Given the description of an element on the screen output the (x, y) to click on. 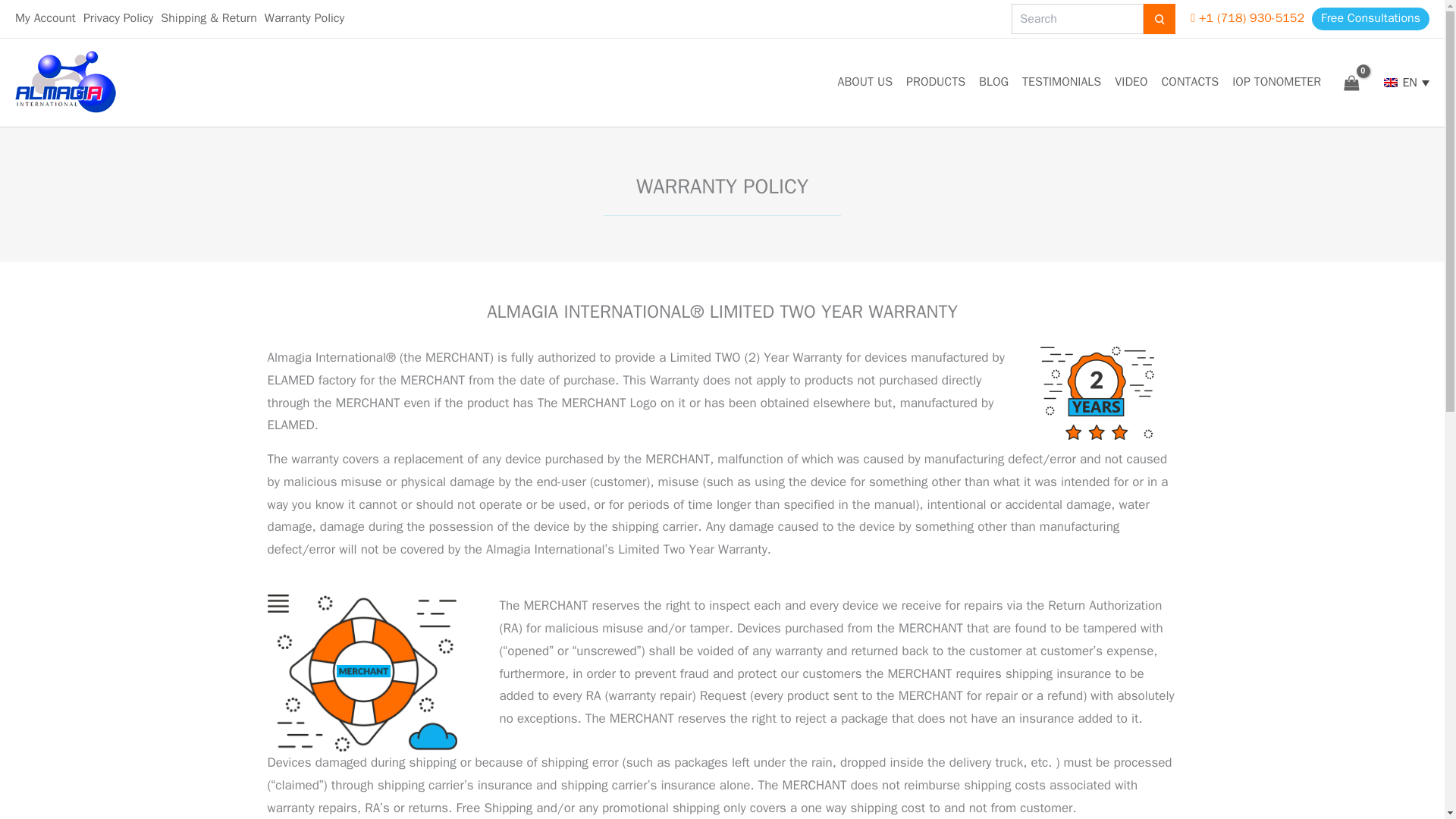
My Account (44, 17)
CONTACTS (1189, 82)
TESTIMONIALS (1061, 82)
EN (1406, 82)
Privacy Policy (117, 17)
LiveChat chat widget (1337, 795)
Free Consultations (1370, 18)
ABOUT US (864, 82)
Warranty Policy (303, 17)
BLOG (993, 82)
PRODUCTS (935, 82)
IOP TONOMETER (1275, 82)
VIDEO (1130, 82)
